Given the description of an element on the screen output the (x, y) to click on. 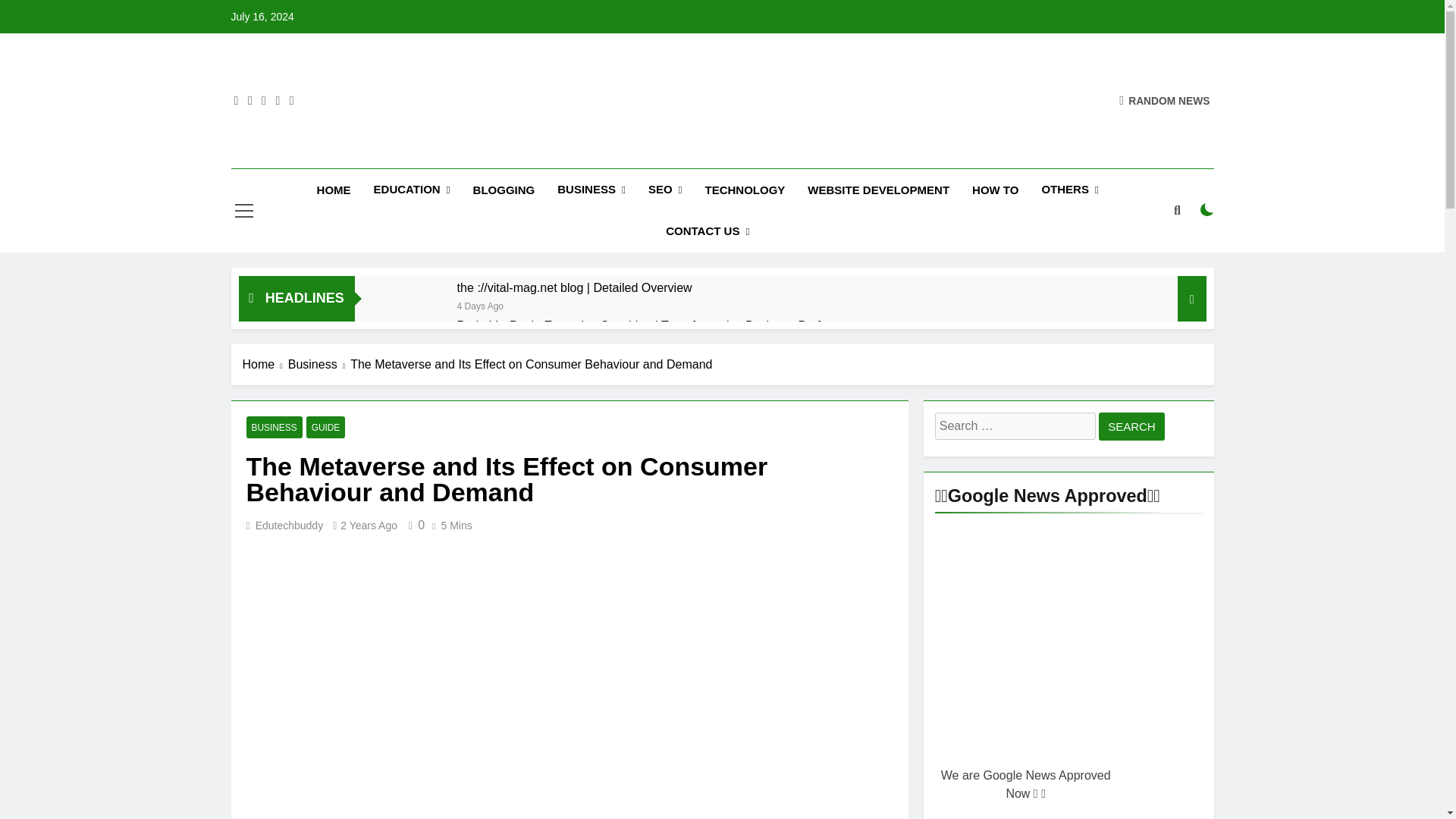
BLOGGING (504, 189)
HOME (333, 189)
on (1206, 210)
Search (1131, 426)
Search (1131, 426)
WEBSITE DEVELOPMENT (878, 189)
TECHNOLOGY (745, 189)
RANDOM NEWS (1164, 100)
CONTACT US (706, 231)
SEO (665, 189)
